Given the description of an element on the screen output the (x, y) to click on. 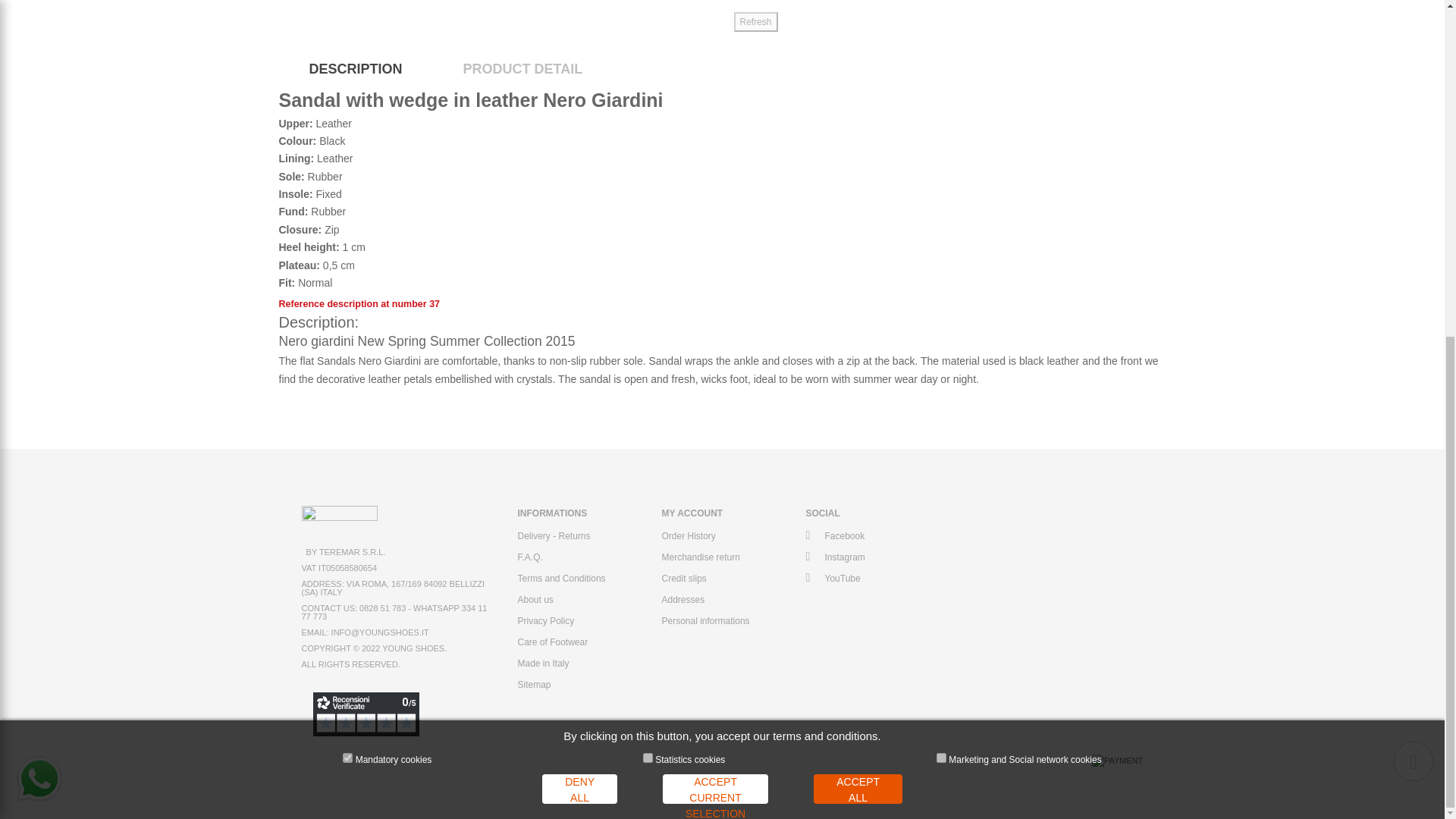
Refresh (755, 21)
on (347, 191)
on (941, 191)
on (647, 191)
